Given the description of an element on the screen output the (x, y) to click on. 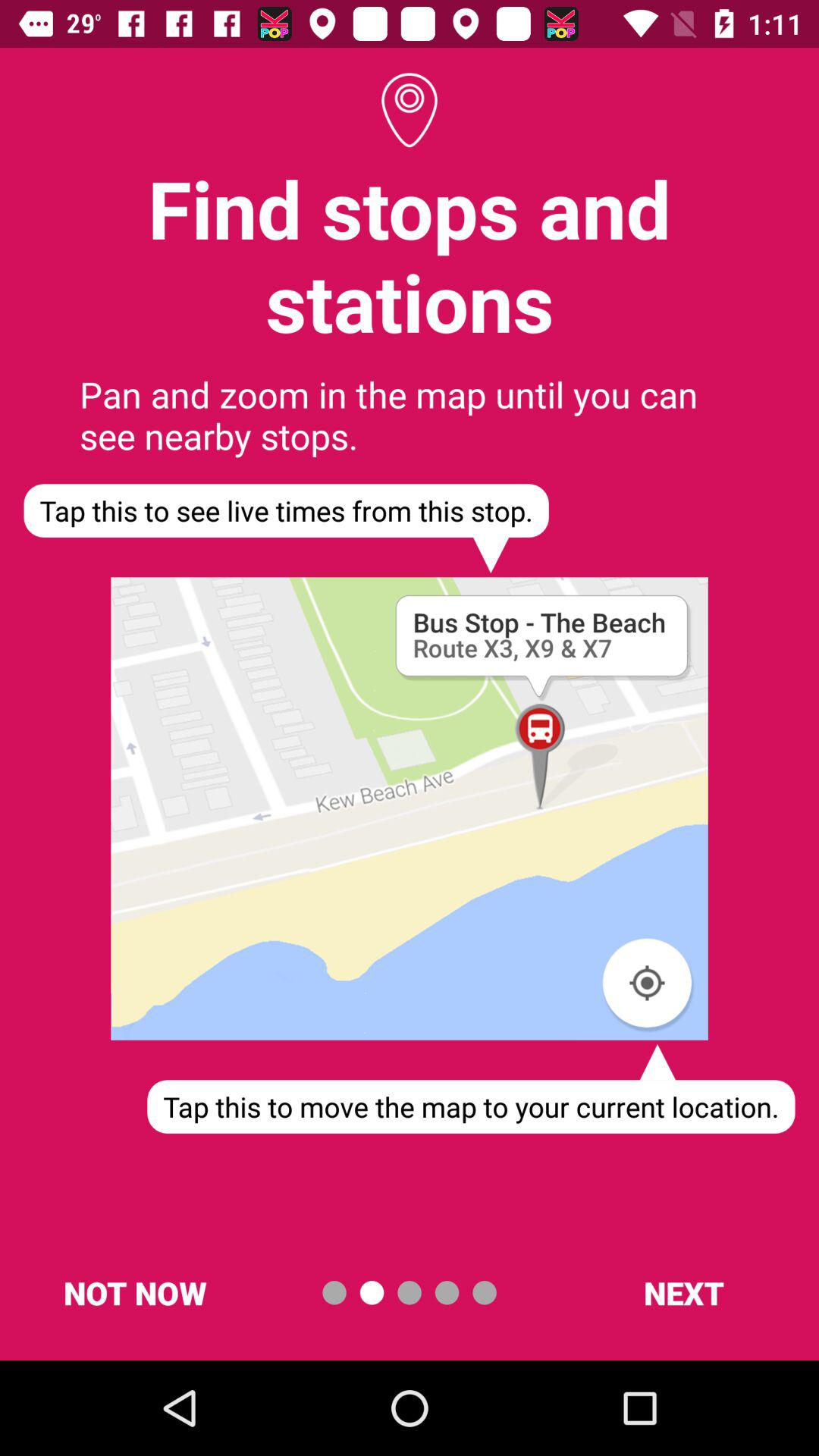
click the item below tap this to (683, 1292)
